Given the description of an element on the screen output the (x, y) to click on. 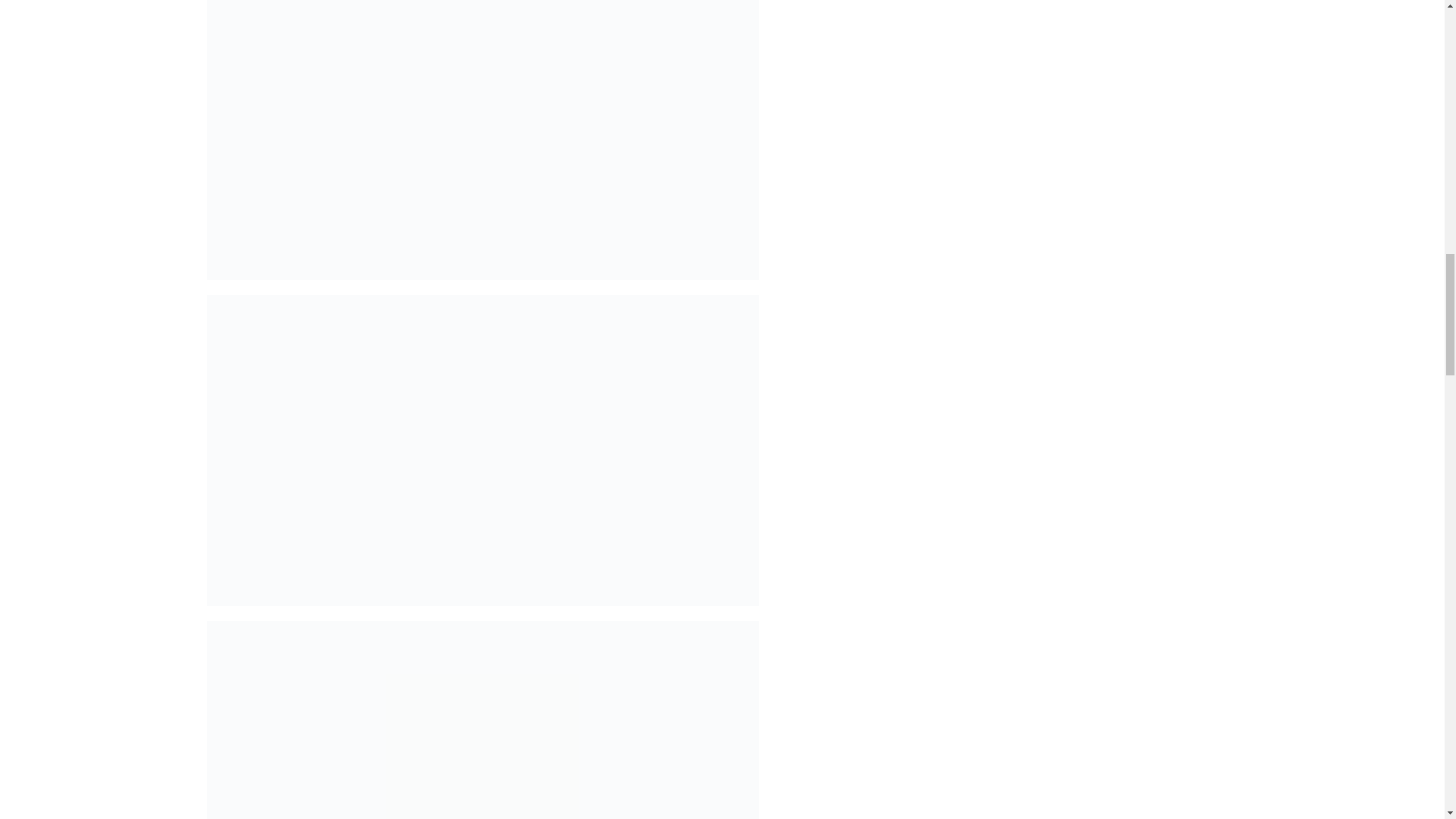
Packaging Design: ShakePlus Dietary Supplement (482, 719)
